Given the description of an element on the screen output the (x, y) to click on. 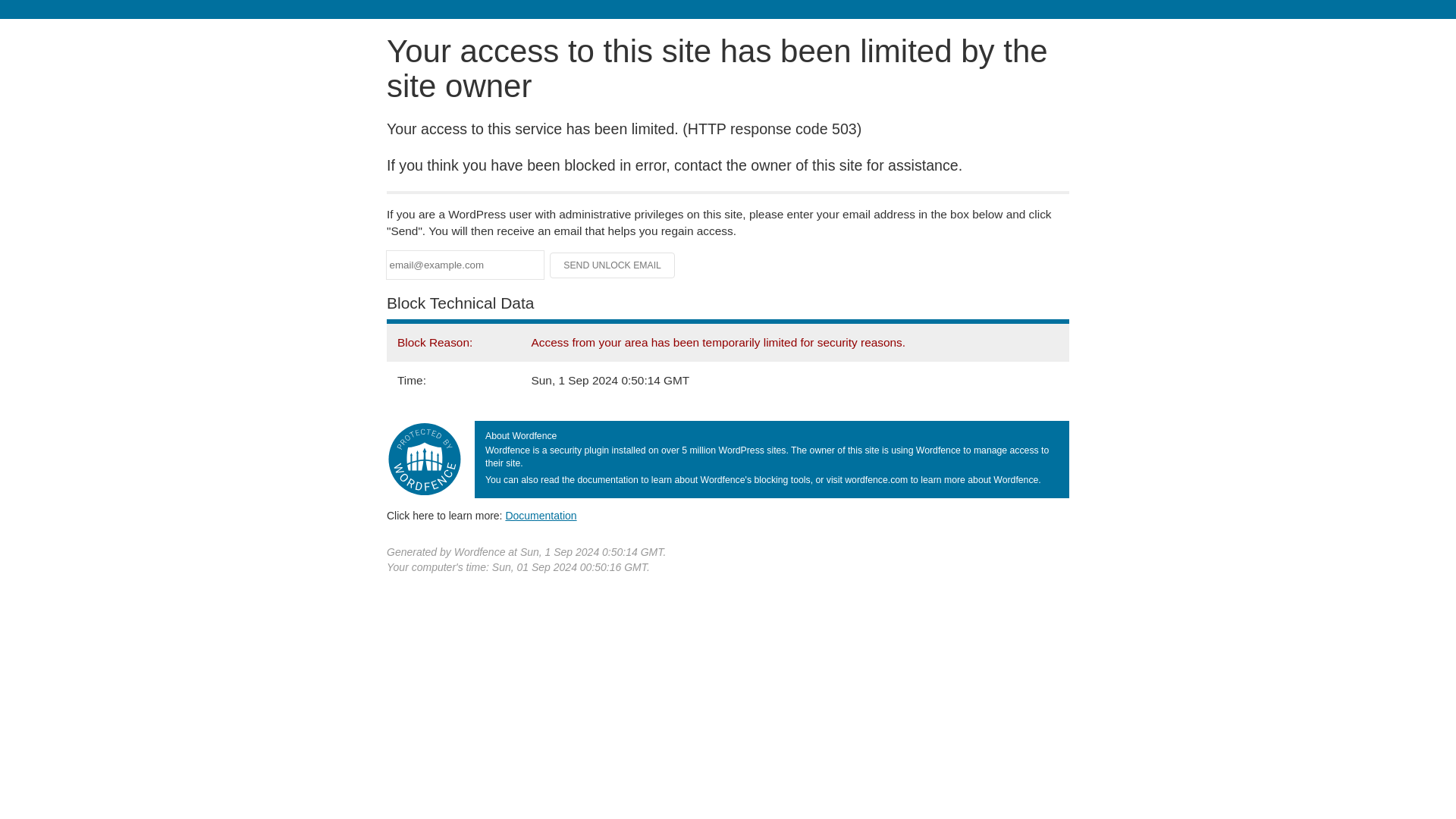
Send Unlock Email (612, 265)
Documentation (540, 515)
Send Unlock Email (612, 265)
